Given the description of an element on the screen output the (x, y) to click on. 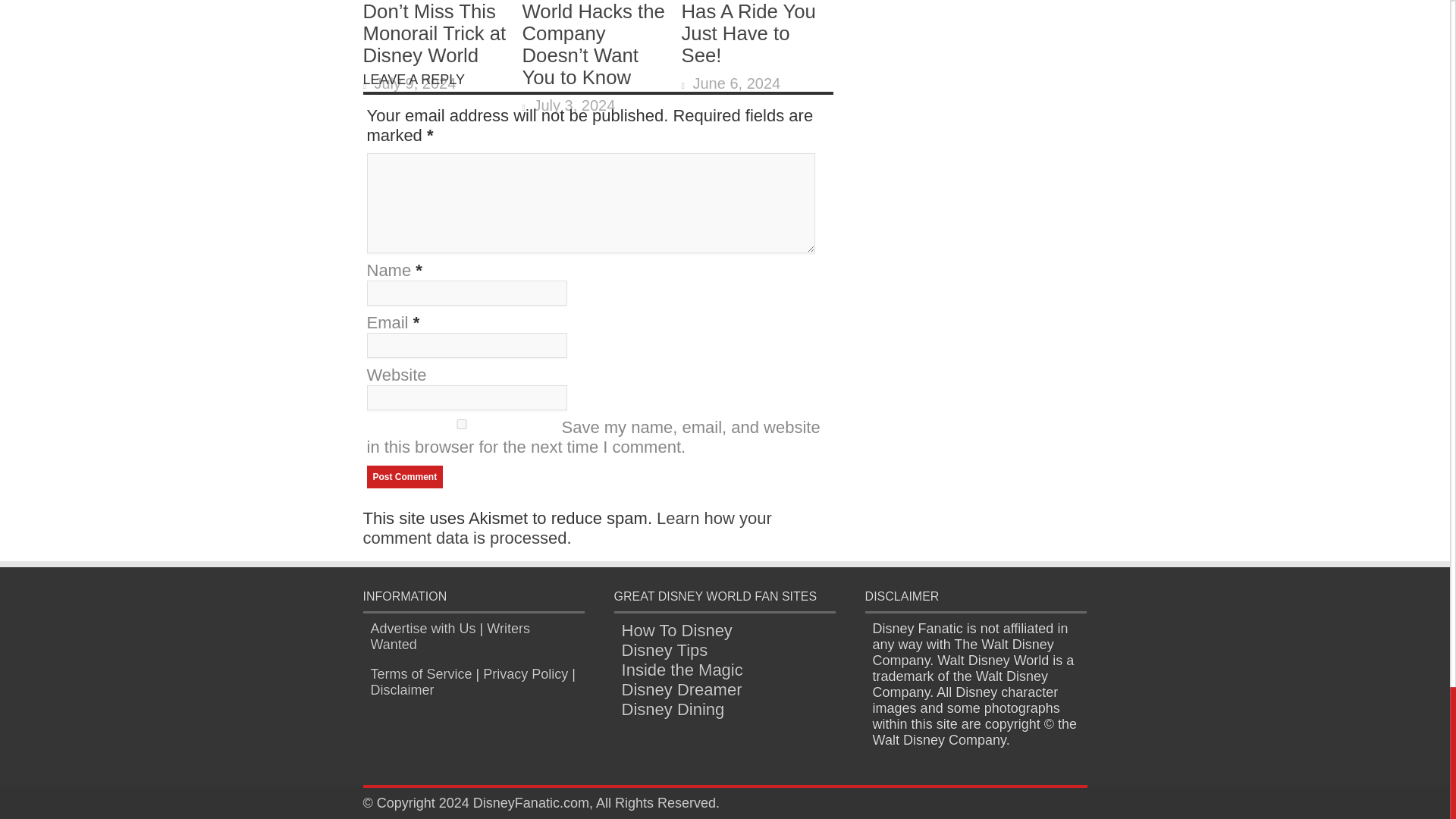
yes (461, 424)
Learn how your comment data is processed (566, 527)
Post Comment (405, 477)
Post Comment (405, 477)
